Given the description of an element on the screen output the (x, y) to click on. 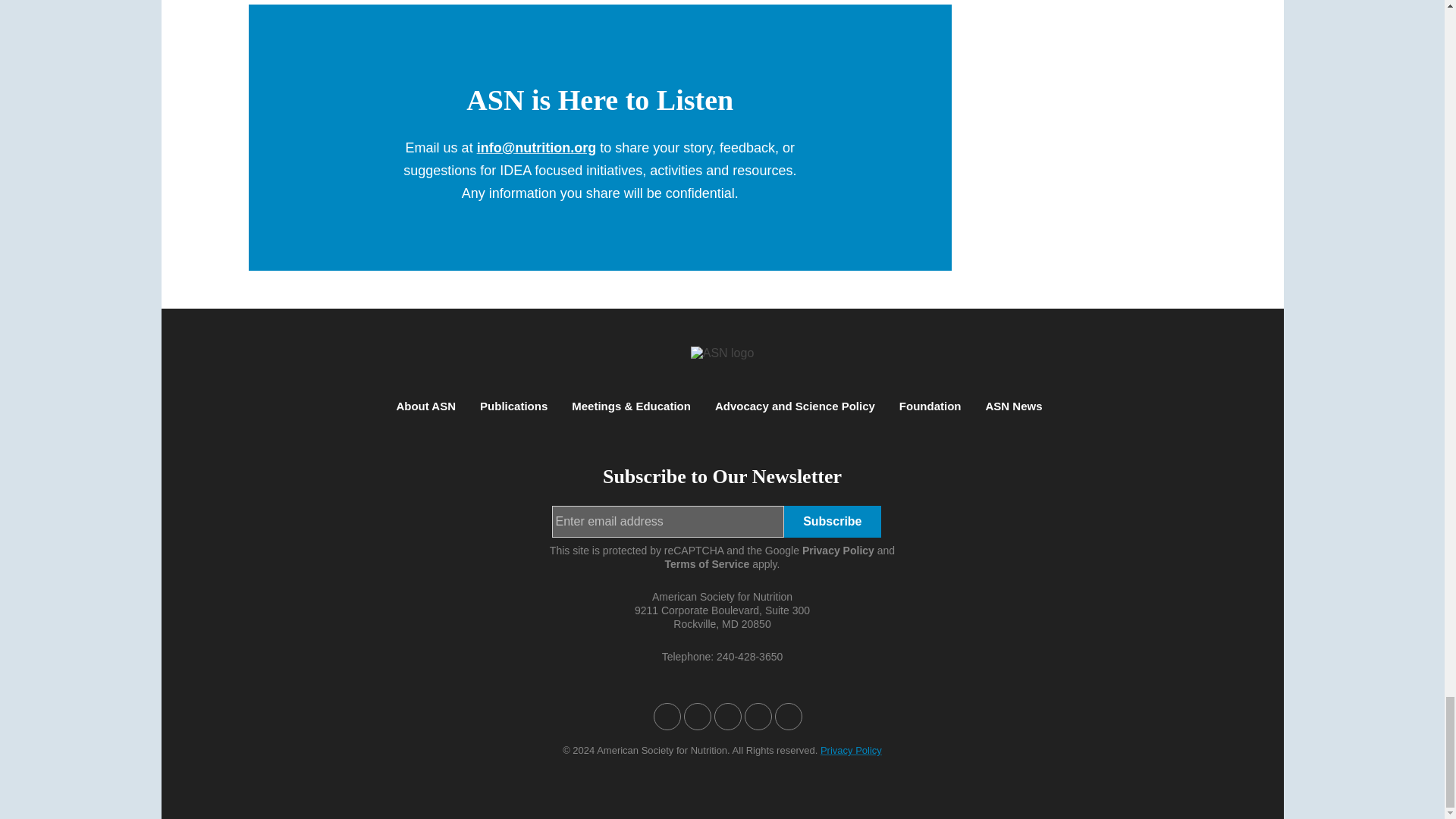
Subscribe (832, 521)
